Given the description of an element on the screen output the (x, y) to click on. 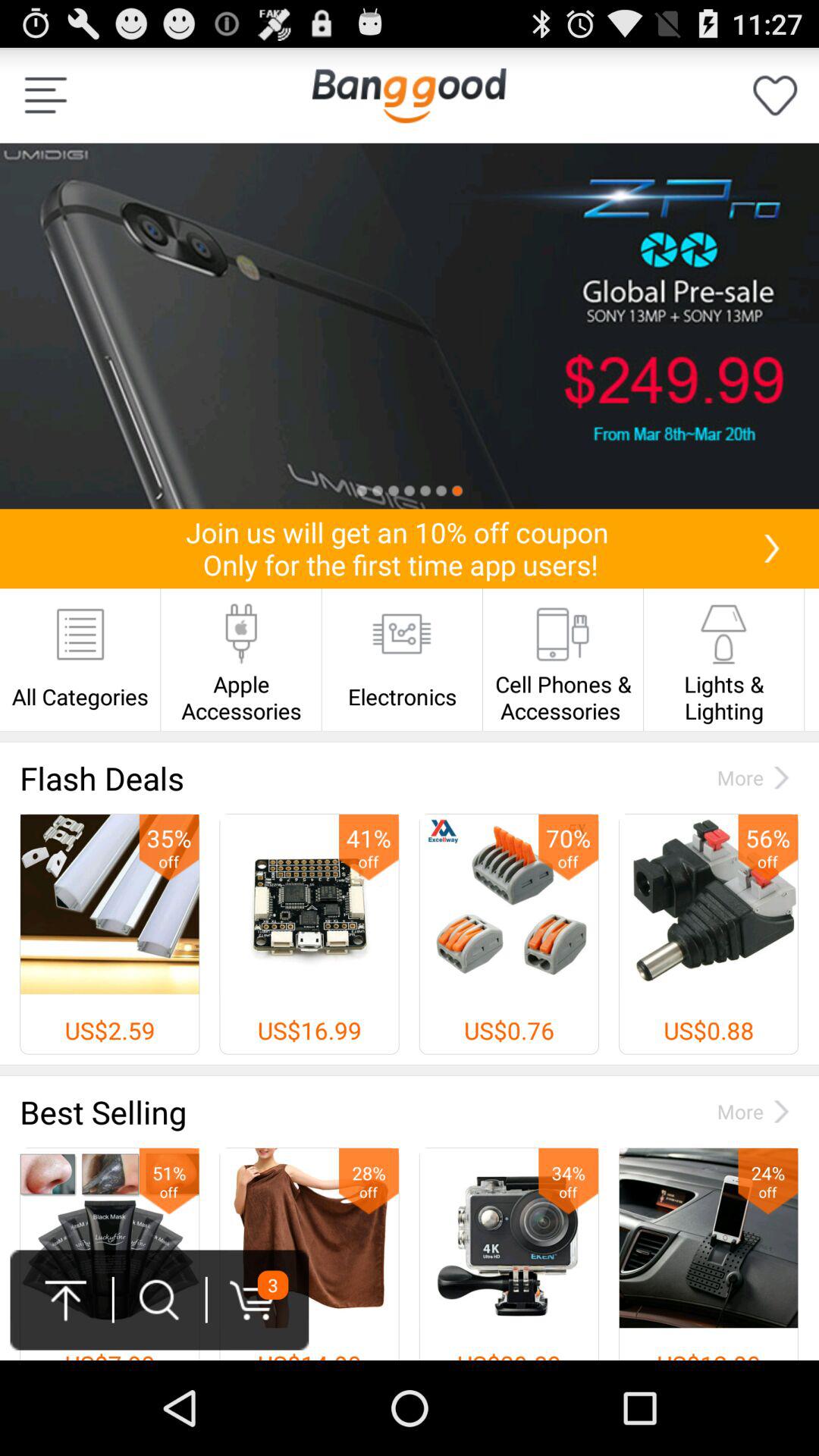
click on the icon above apple accessories (241, 633)
click on 3rd image from left below flash deals (508, 933)
click on 2nd image from left below flash deals (309, 933)
click on four horizontal lines icon at the top left corner (45, 95)
select the first image below the text flash deals on the web page (109, 903)
